Given the description of an element on the screen output the (x, y) to click on. 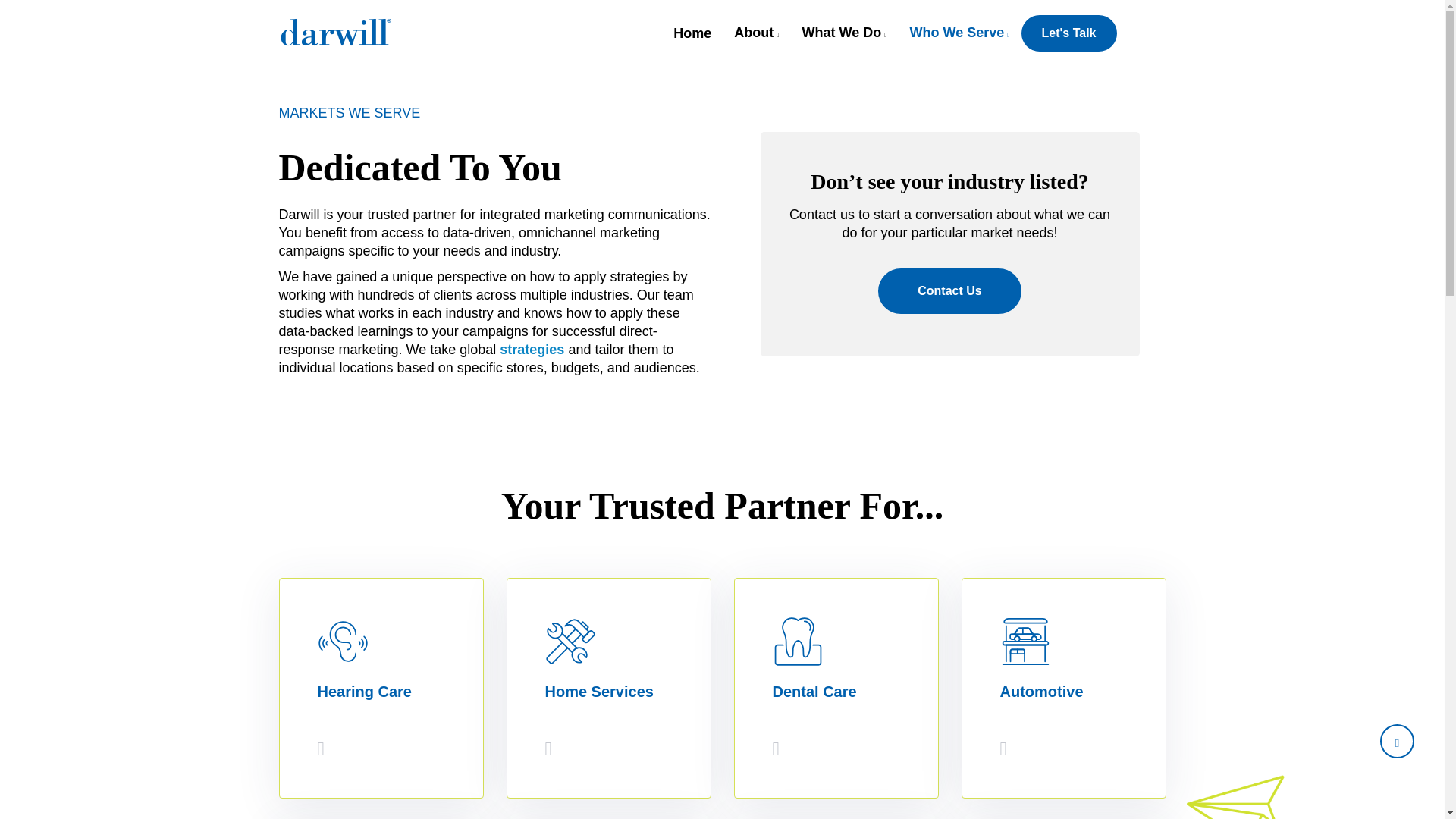
Who We Serve (960, 32)
Home (346, 39)
What We Do (844, 32)
About (755, 32)
Home (691, 32)
